Given the description of an element on the screen output the (x, y) to click on. 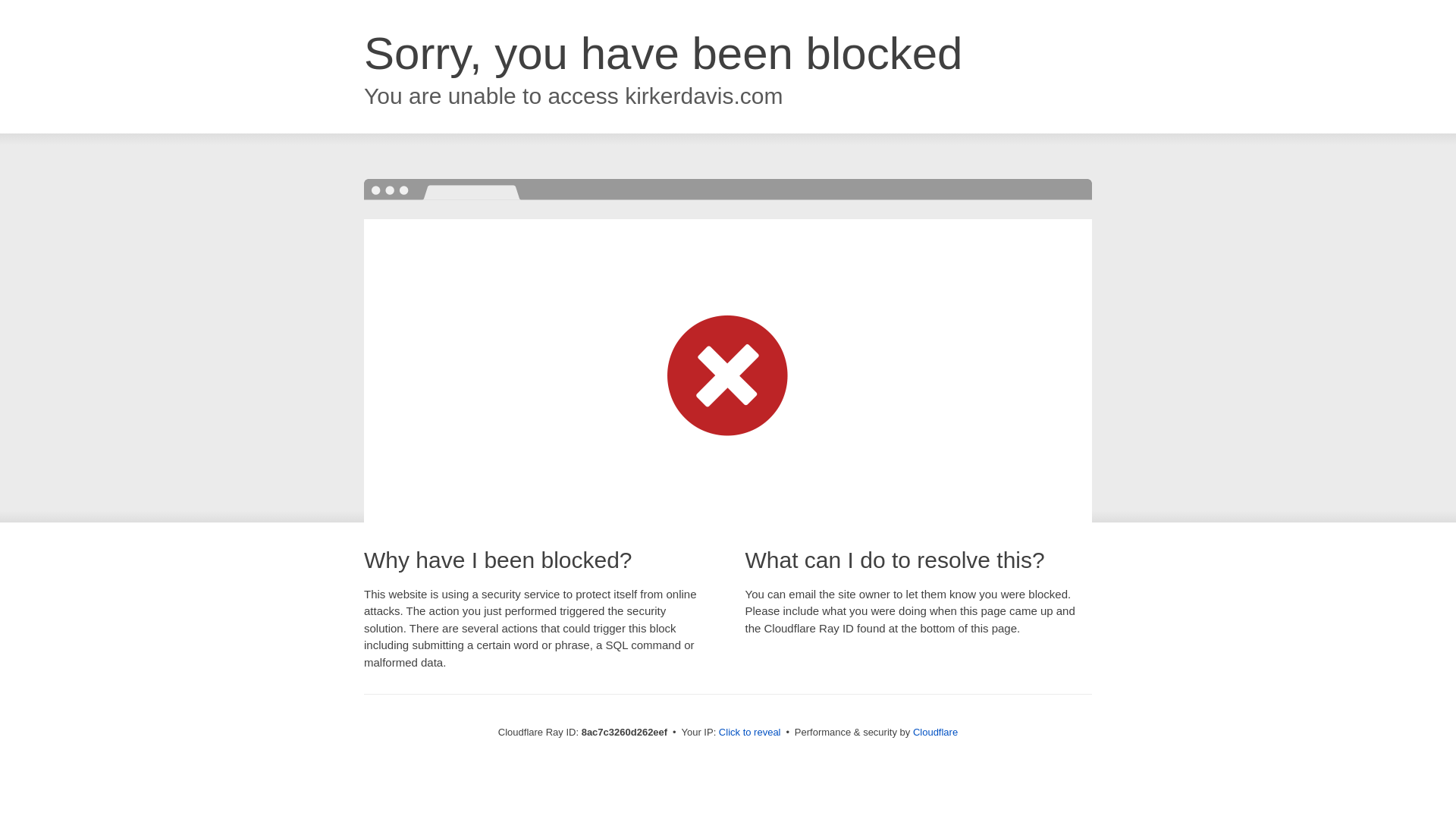
Click to reveal (749, 732)
Cloudflare (935, 731)
